Given the description of an element on the screen output the (x, y) to click on. 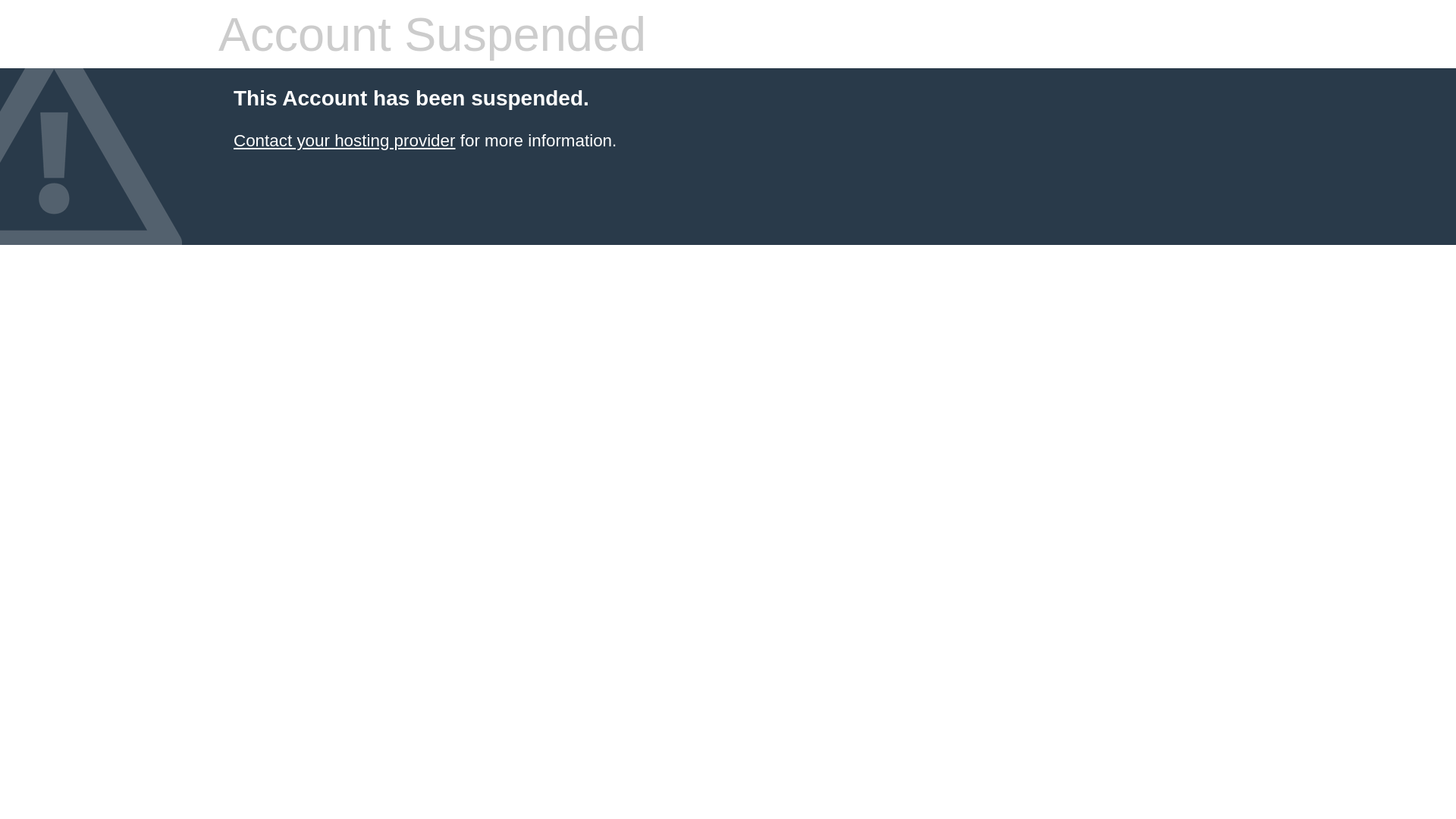
Contact your hosting provider Element type: text (344, 140)
